Given the description of an element on the screen output the (x, y) to click on. 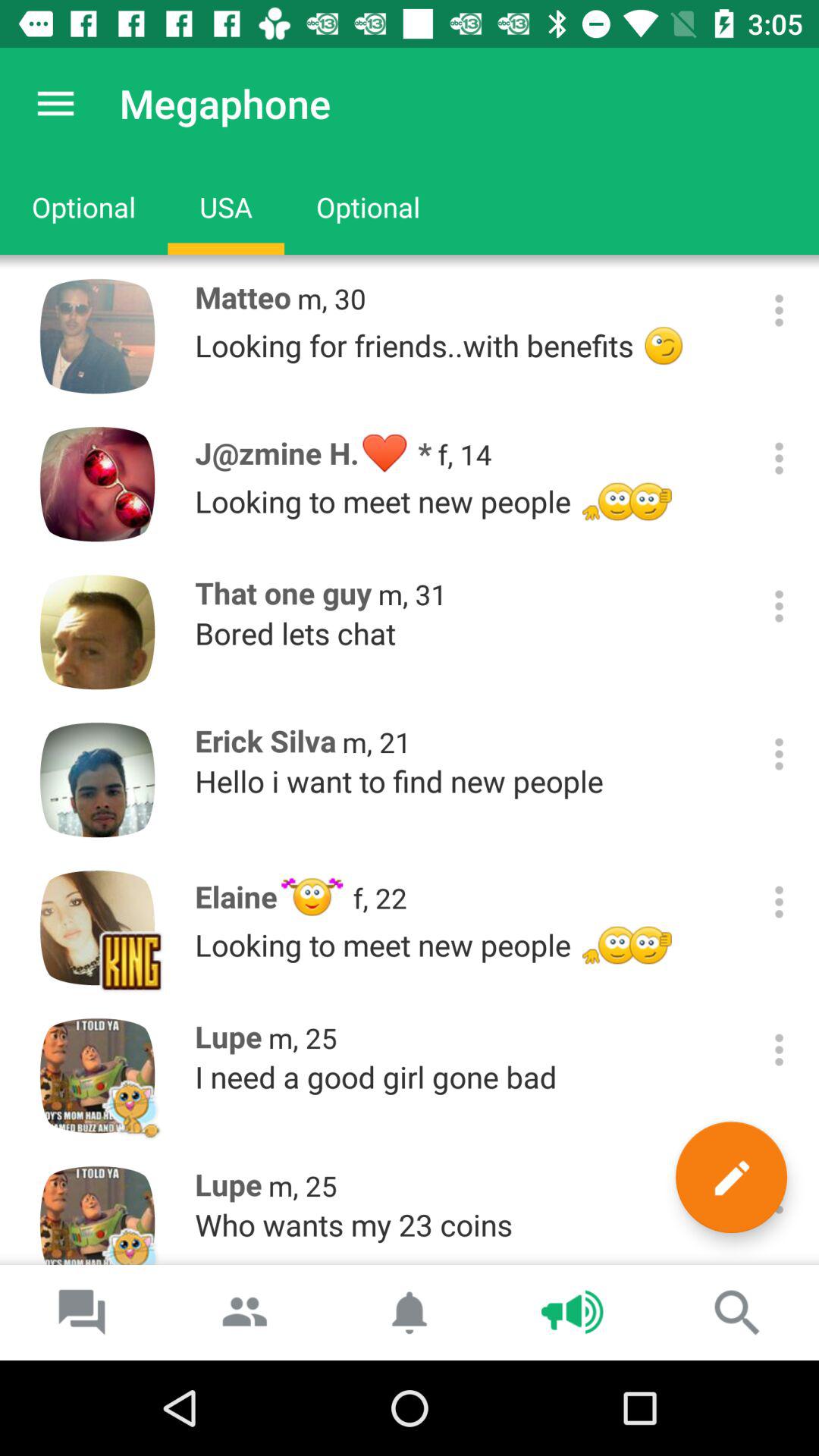
select icon above optional icon (55, 103)
